Given the description of an element on the screen output the (x, y) to click on. 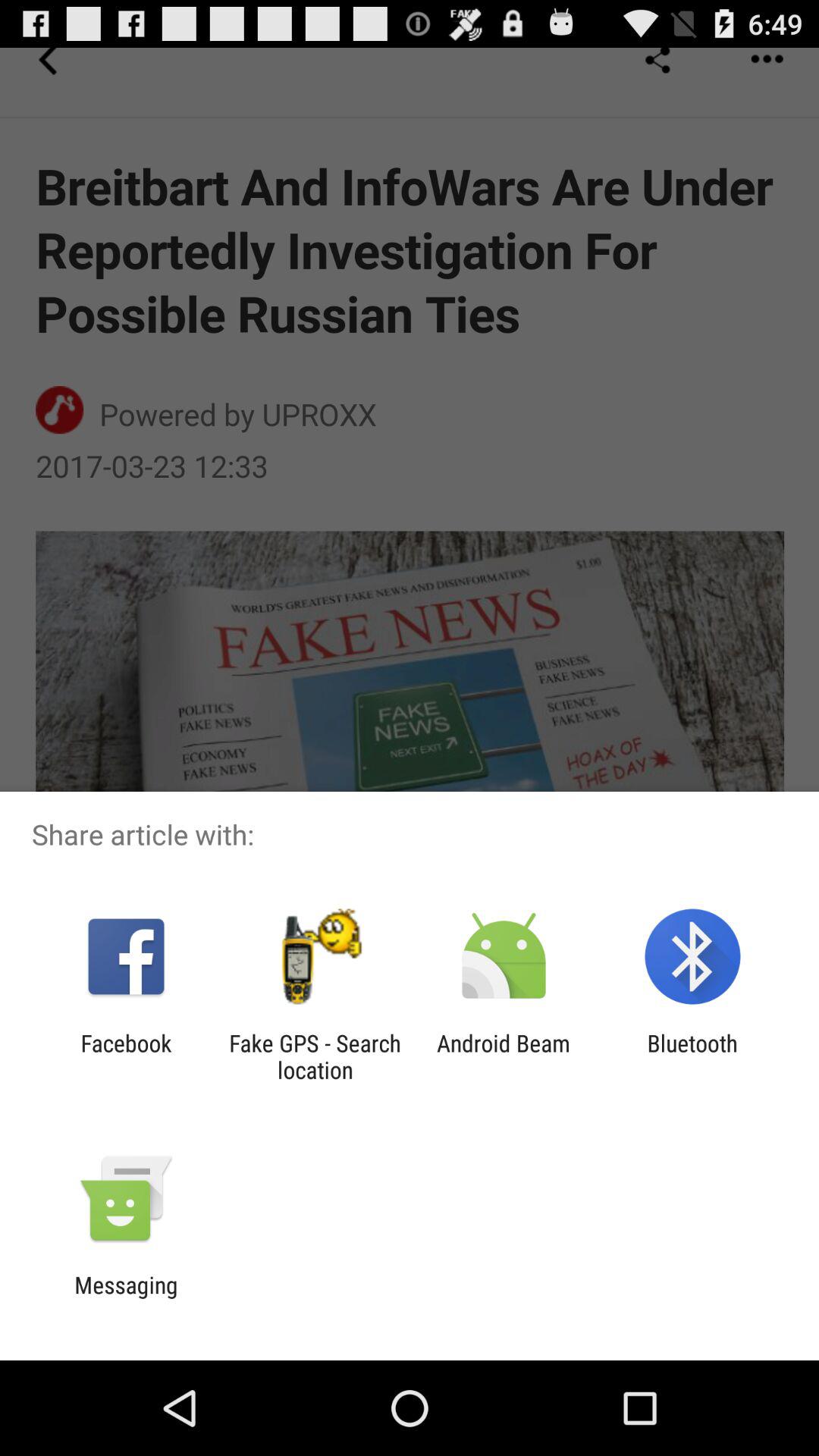
tap the messaging icon (126, 1298)
